Given the description of an element on the screen output the (x, y) to click on. 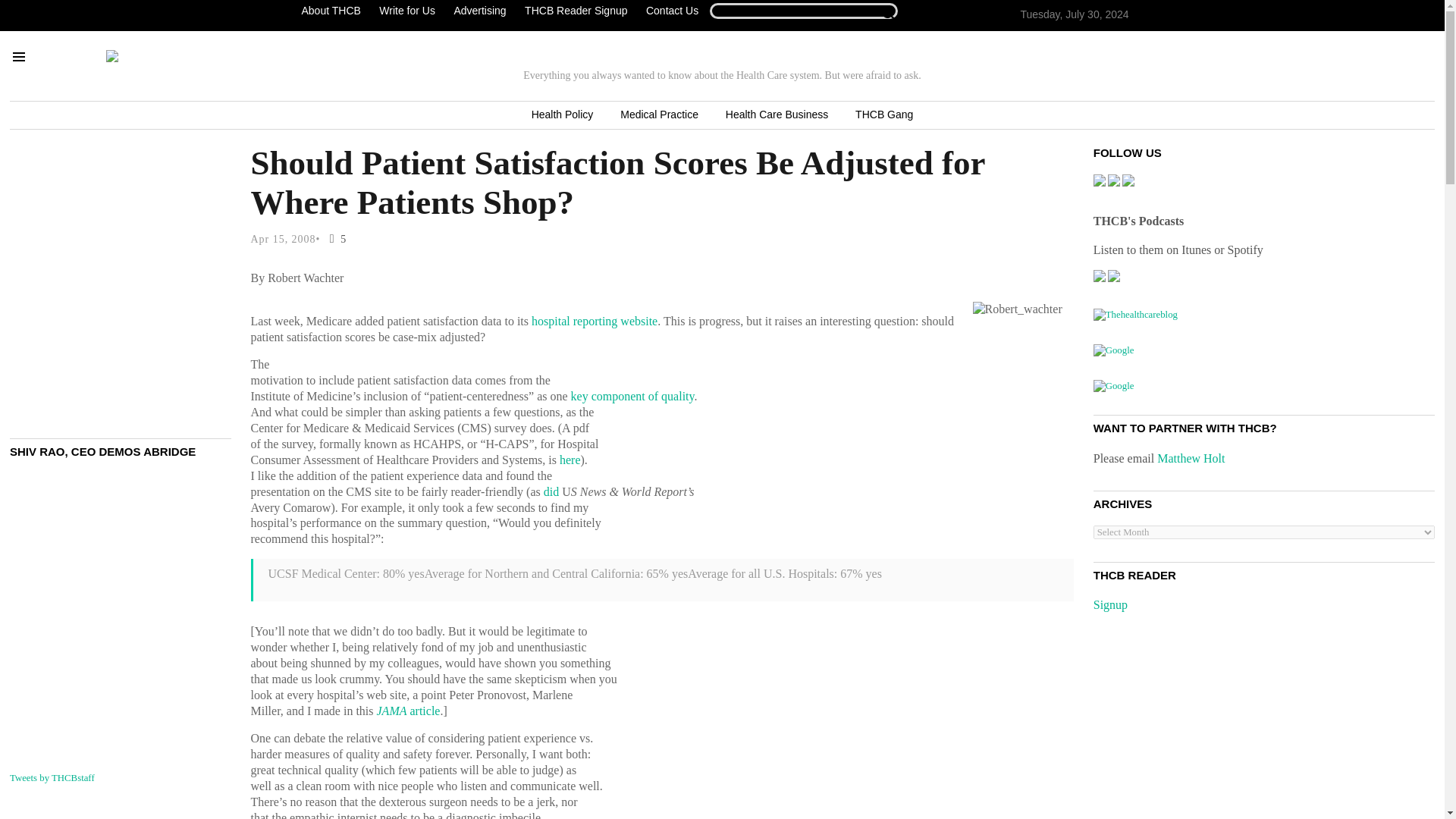
Crossing the Quality Chasm's Six Aims (632, 395)
Health Care Business (776, 114)
Tweets by THCBstaff (52, 777)
5 (334, 238)
THCB Gang (883, 114)
did (551, 491)
Medical Practice (659, 114)
here (569, 459)
About THCB (334, 10)
hospitalcompare.hhs.gov (594, 320)
hospital reporting website (594, 320)
JAMA article (407, 710)
Health Policy (562, 114)
Advertising (479, 10)
Comarow blog (551, 491)
